Given the description of an element on the screen output the (x, y) to click on. 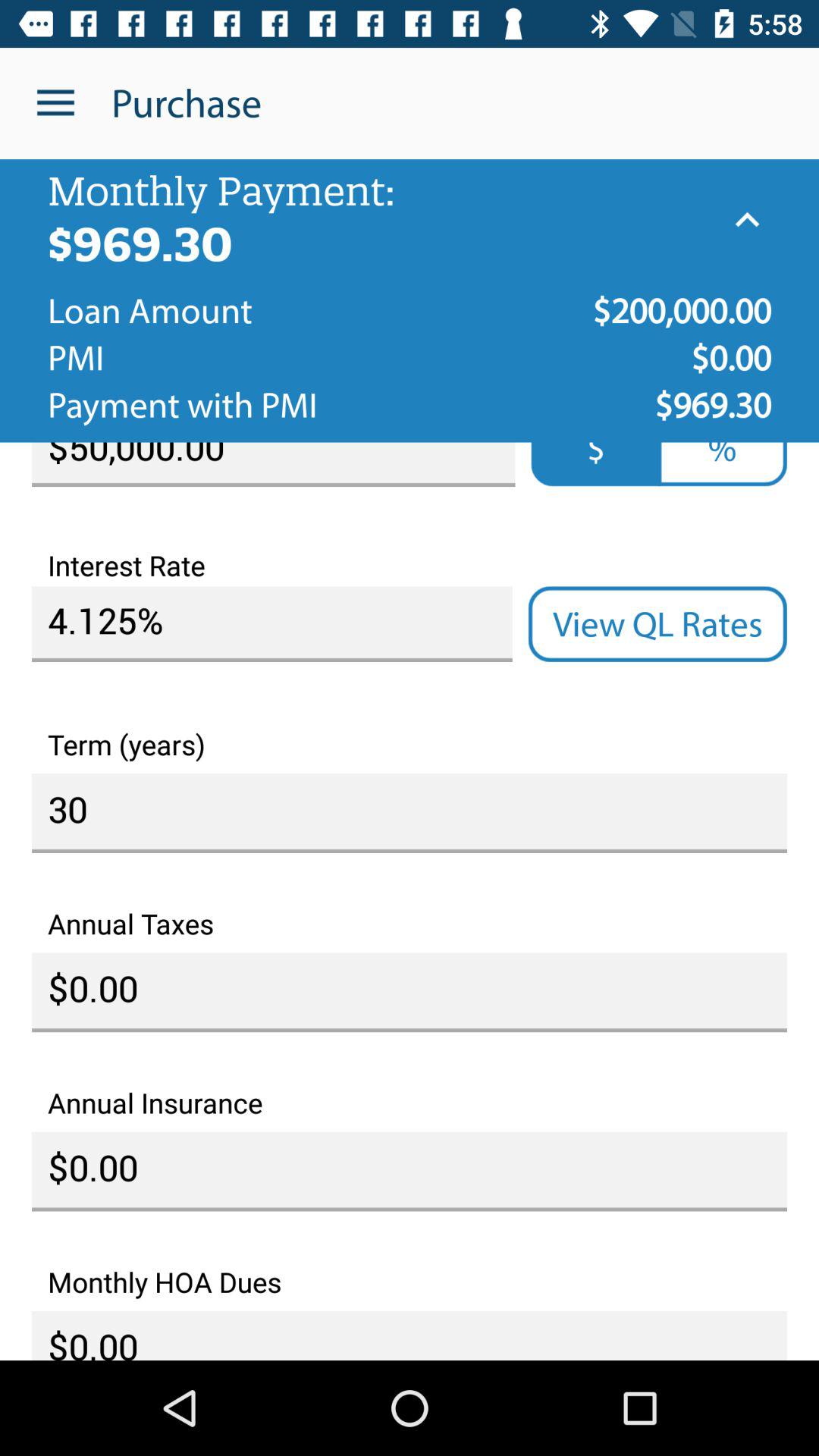
choose the item to the left of purchase icon (55, 103)
